Given the description of an element on the screen output the (x, y) to click on. 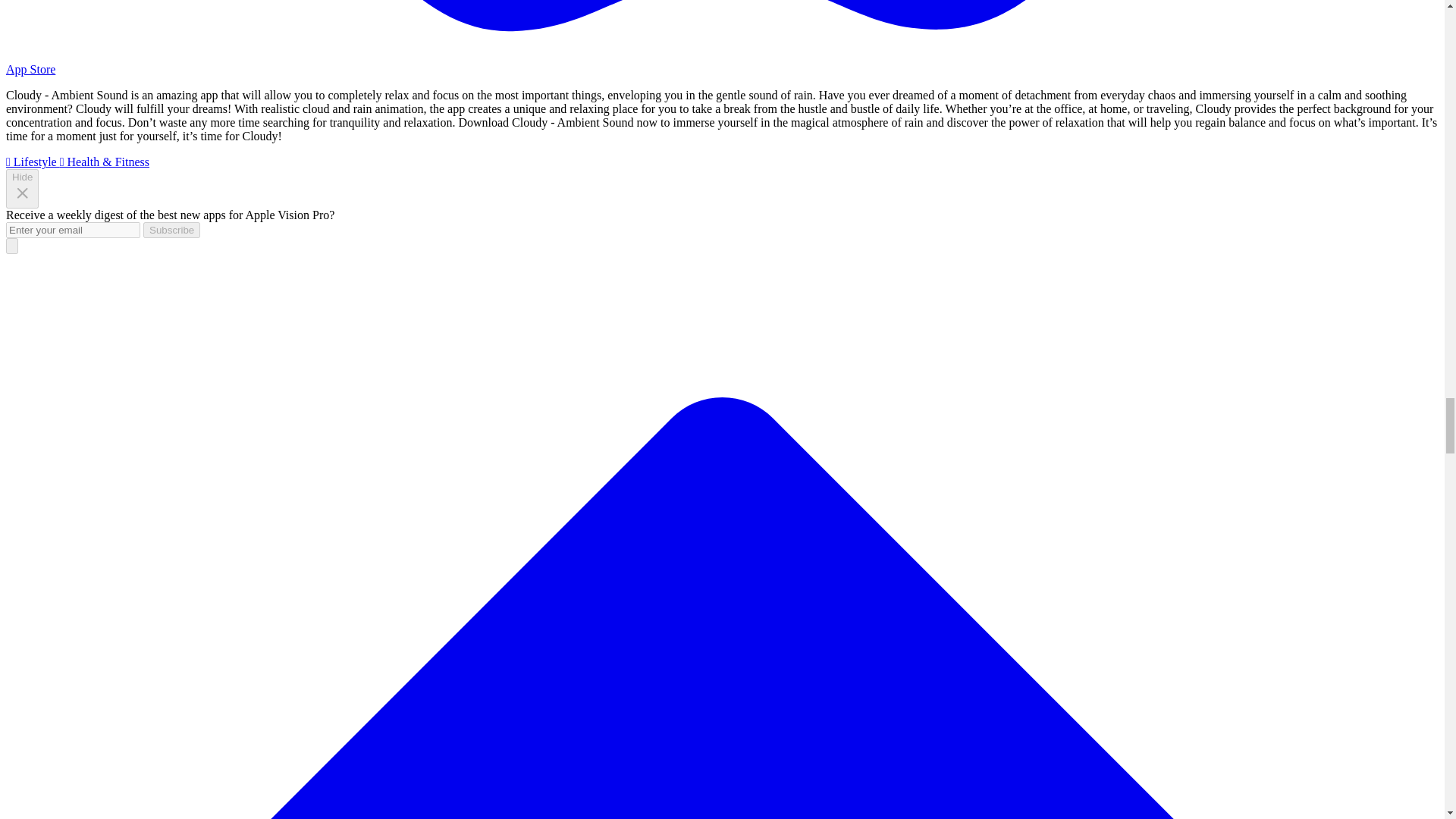
Subscribe (171, 229)
